Given the description of an element on the screen output the (x, y) to click on. 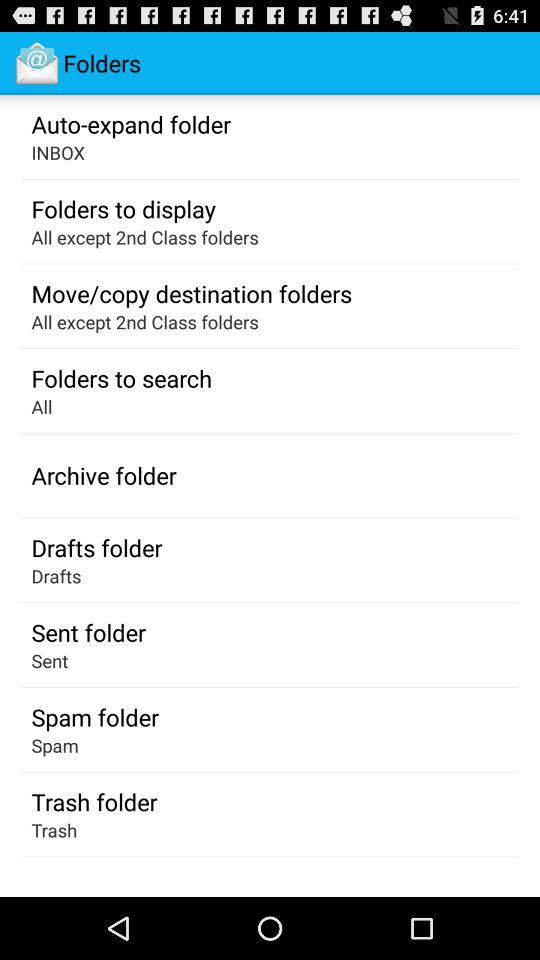
scroll until archive folder app (103, 475)
